Given the description of an element on the screen output the (x, y) to click on. 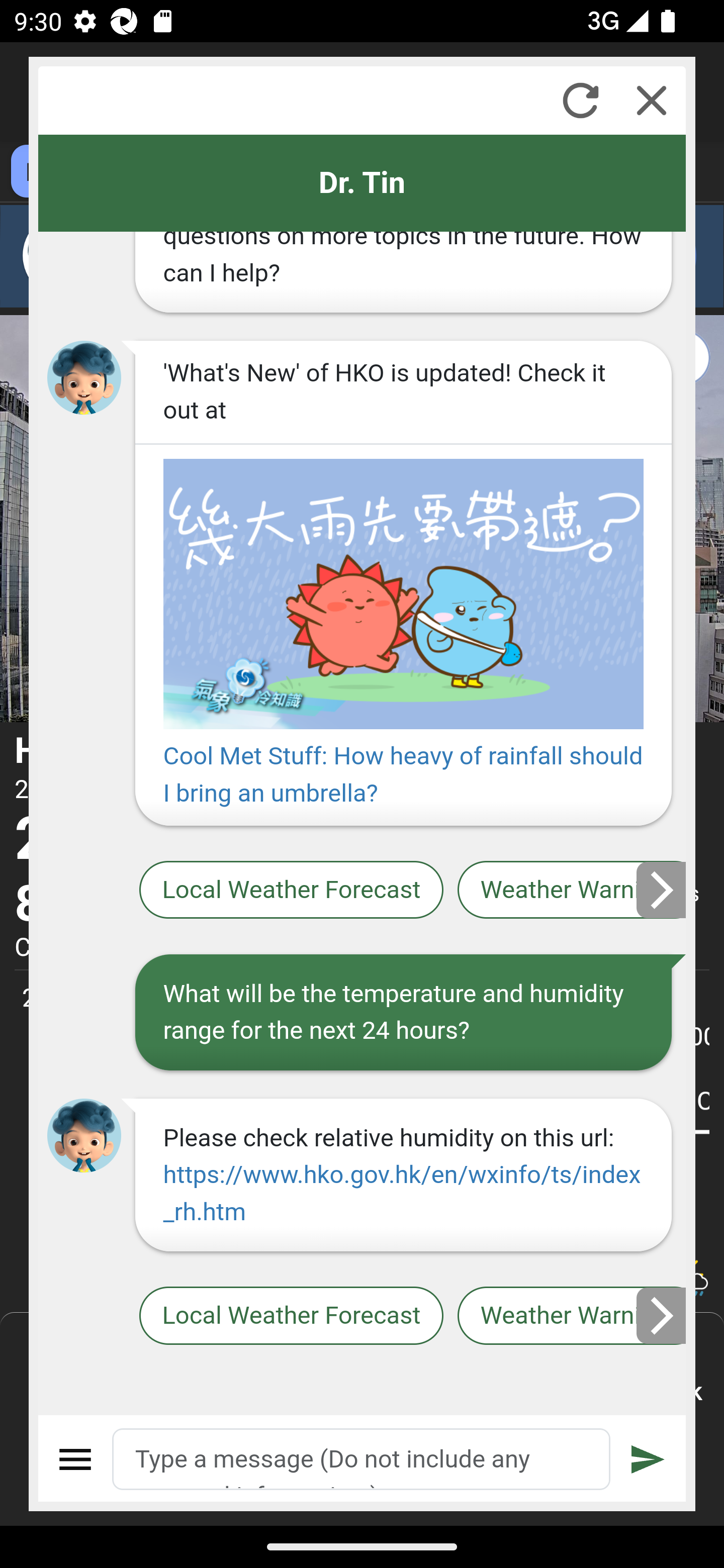
Refresh (580, 100)
Close (651, 100)
Local Weather Forecast (291, 889)
Weather Warnings (571, 889)
Next slide (661, 889)
https://www.hko.gov.hk/en/wxinfo/ts/index_rh.htm (401, 1193)
Local Weather Forecast (291, 1315)
Weather Warnings (571, 1315)
Next slide (661, 1316)
Menu (75, 1458)
Submit (648, 1458)
